Given the description of an element on the screen output the (x, y) to click on. 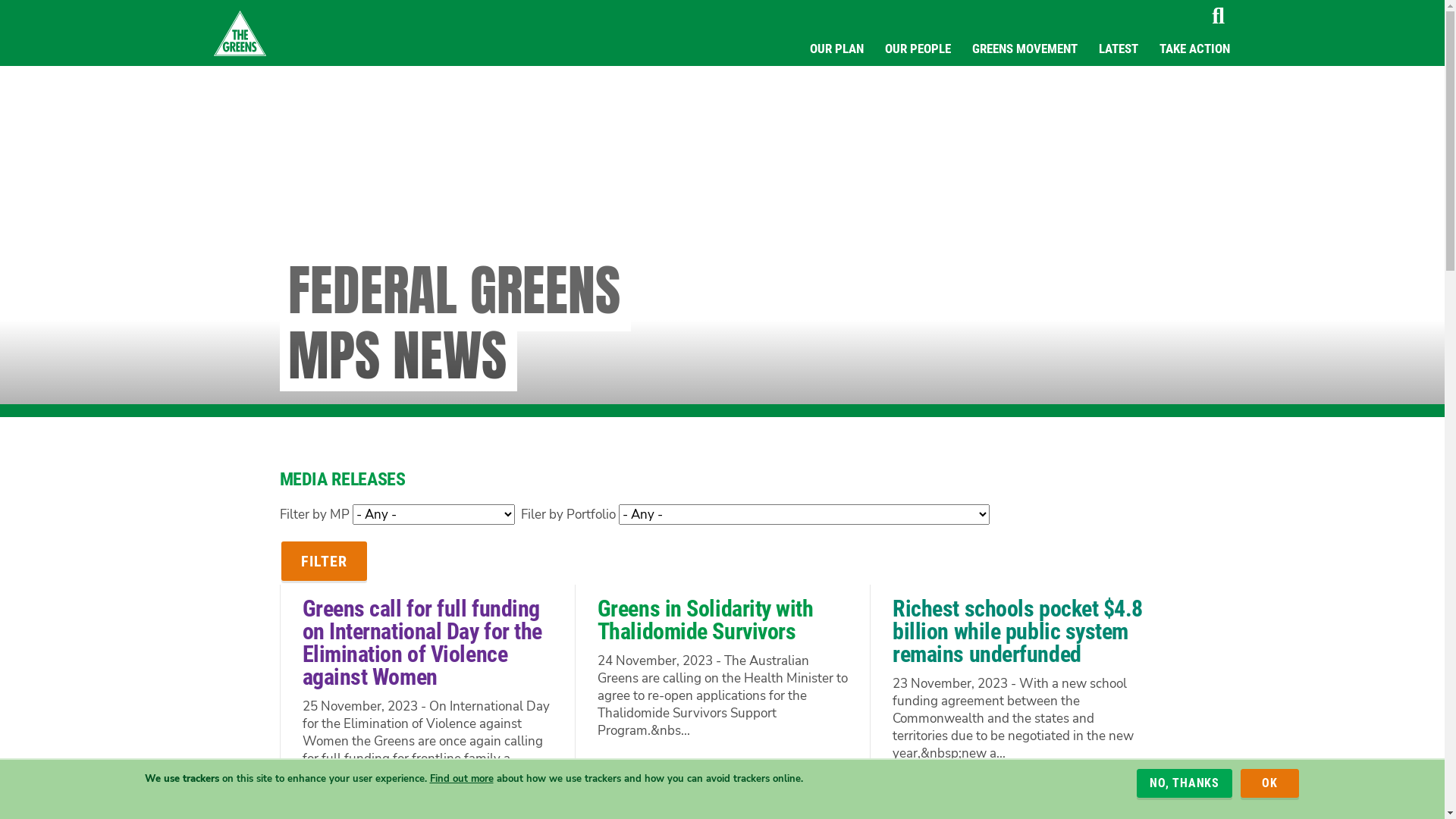
Search Element type: text (1217, 15)
OK Element type: text (1269, 782)
LATEST Element type: text (1117, 48)
OUR PLAN Element type: text (836, 48)
Greens in Solidarity with Thalidomide Survivors Element type: text (705, 619)
Find out more Element type: text (460, 778)
OUR PEOPLE Element type: text (916, 48)
Skip to main content Element type: text (0, 0)
Filter Element type: text (323, 560)
NO, THANKS Element type: text (1184, 782)
GREENS MOVEMENT Element type: text (1024, 48)
TAKE ACTION Element type: text (1193, 48)
